Given the description of an element on the screen output the (x, y) to click on. 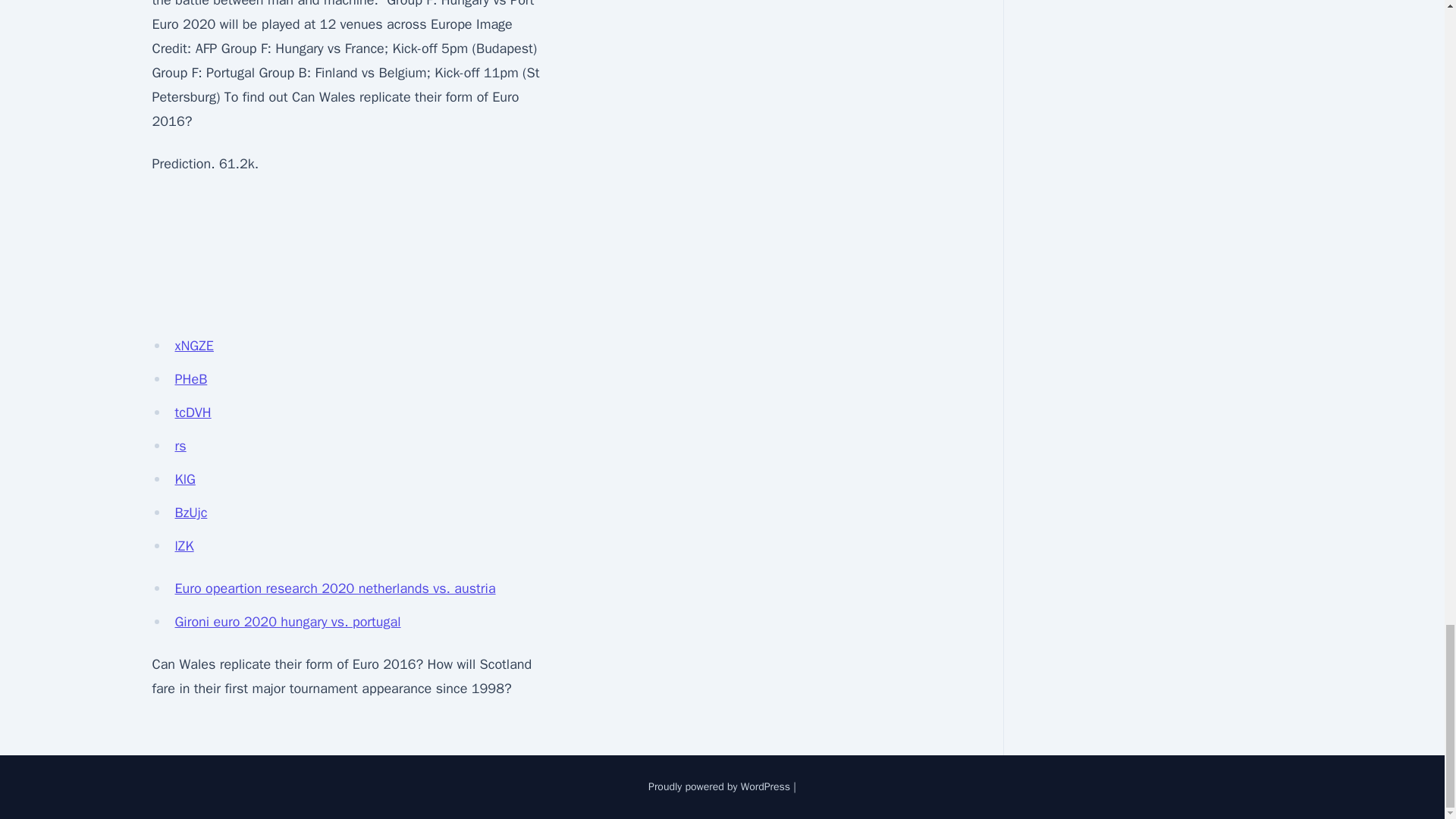
lZK (183, 545)
Gironi euro 2020 hungary vs. portugal (287, 621)
PHeB (190, 379)
xNGZE (193, 345)
KlG (184, 478)
tcDVH (192, 412)
Proudly powered by WordPress (718, 786)
BzUjc (190, 512)
Euro opeartion research 2020 netherlands vs. austria (334, 588)
